Given the description of an element on the screen output the (x, y) to click on. 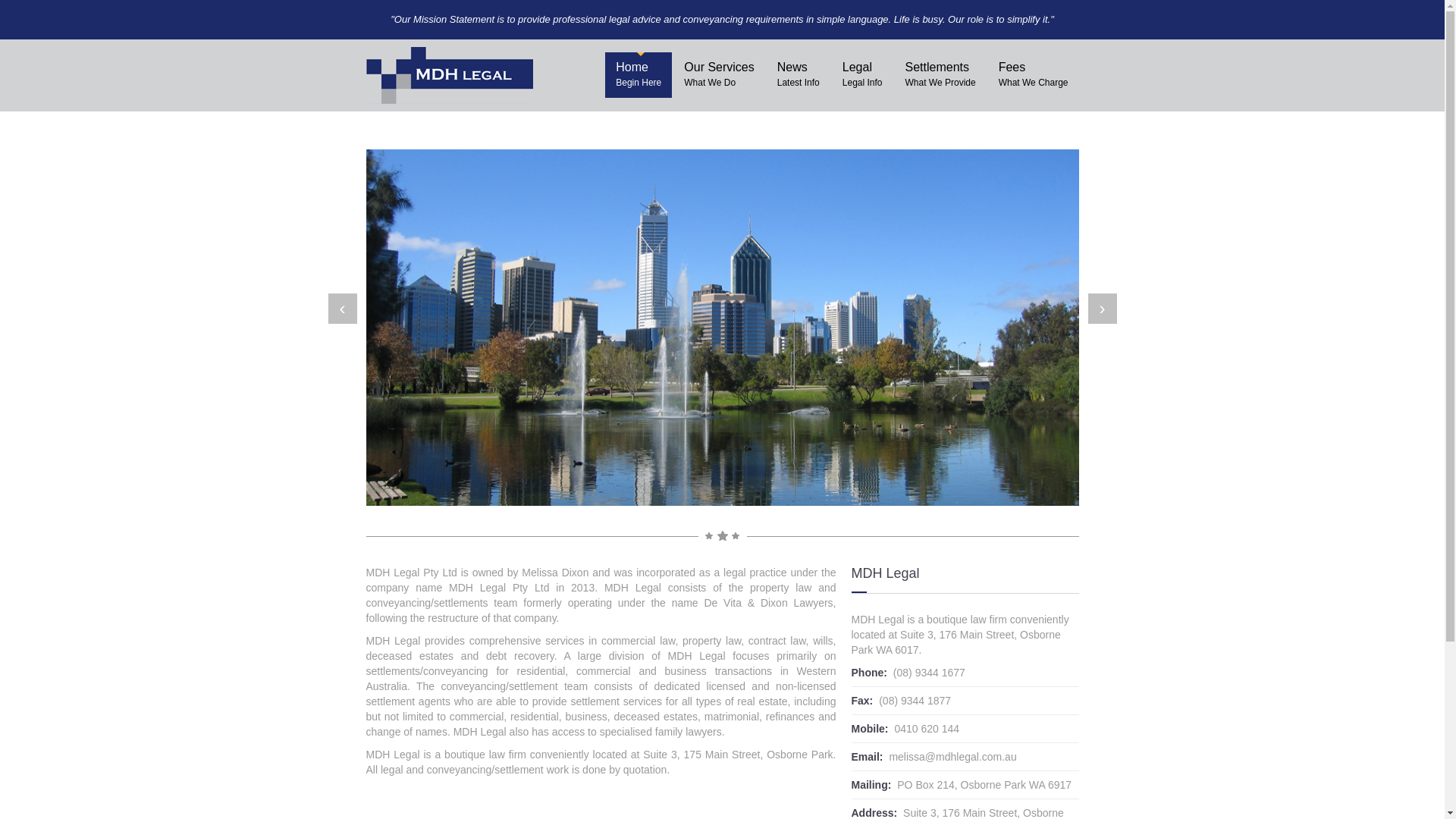
Our Services
What We Do Element type: text (718, 74)
Legal
Legal Info Element type: text (862, 74)
Home
Begin Here Element type: text (638, 74)
Settlements
What We Provide Element type: text (940, 74)
Fees
What We Charge Element type: text (1033, 74)
News
Latest Info Element type: text (798, 74)
